Given the description of an element on the screen output the (x, y) to click on. 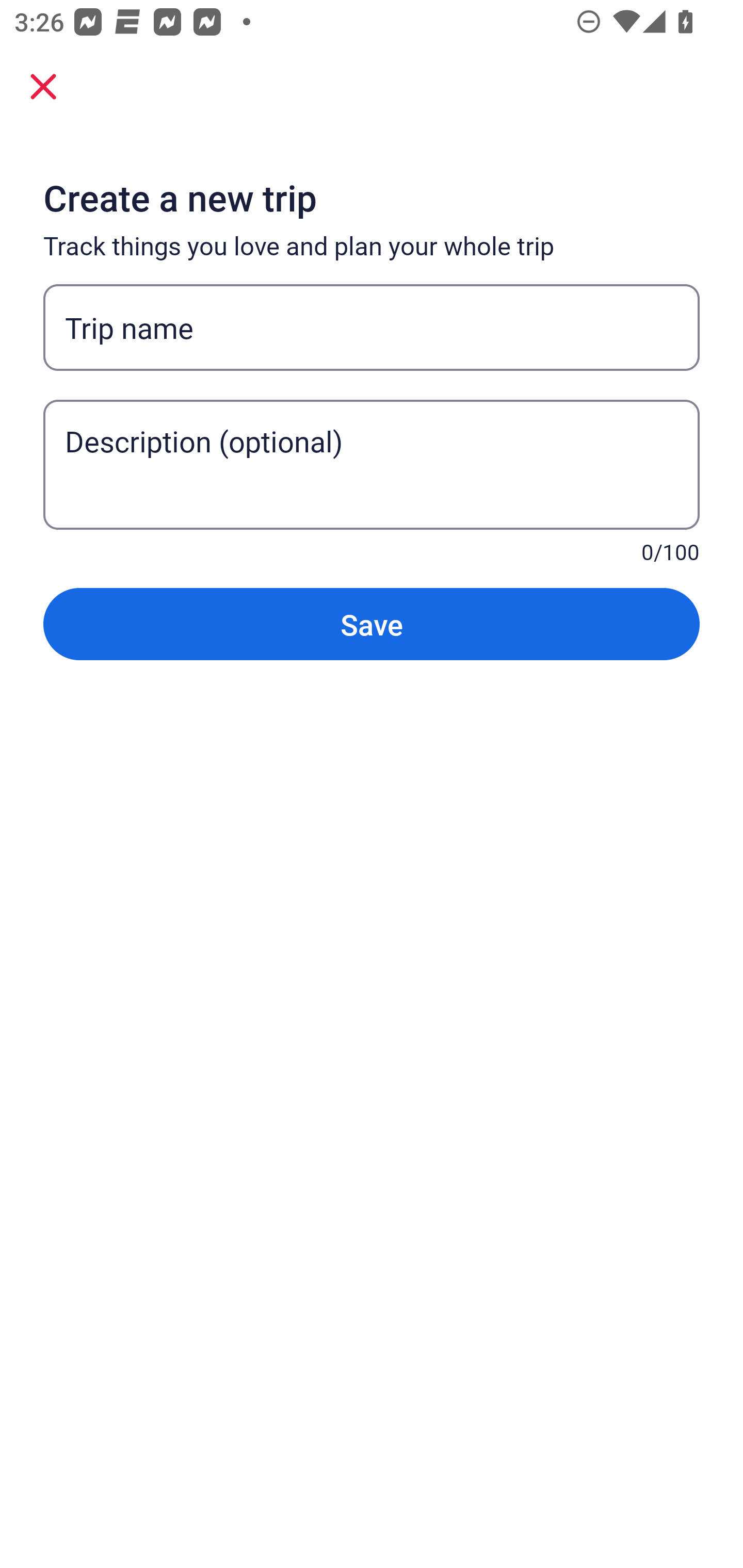
Close (43, 86)
Trip name (371, 327)
Save Button Save (371, 624)
